Given the description of an element on the screen output the (x, y) to click on. 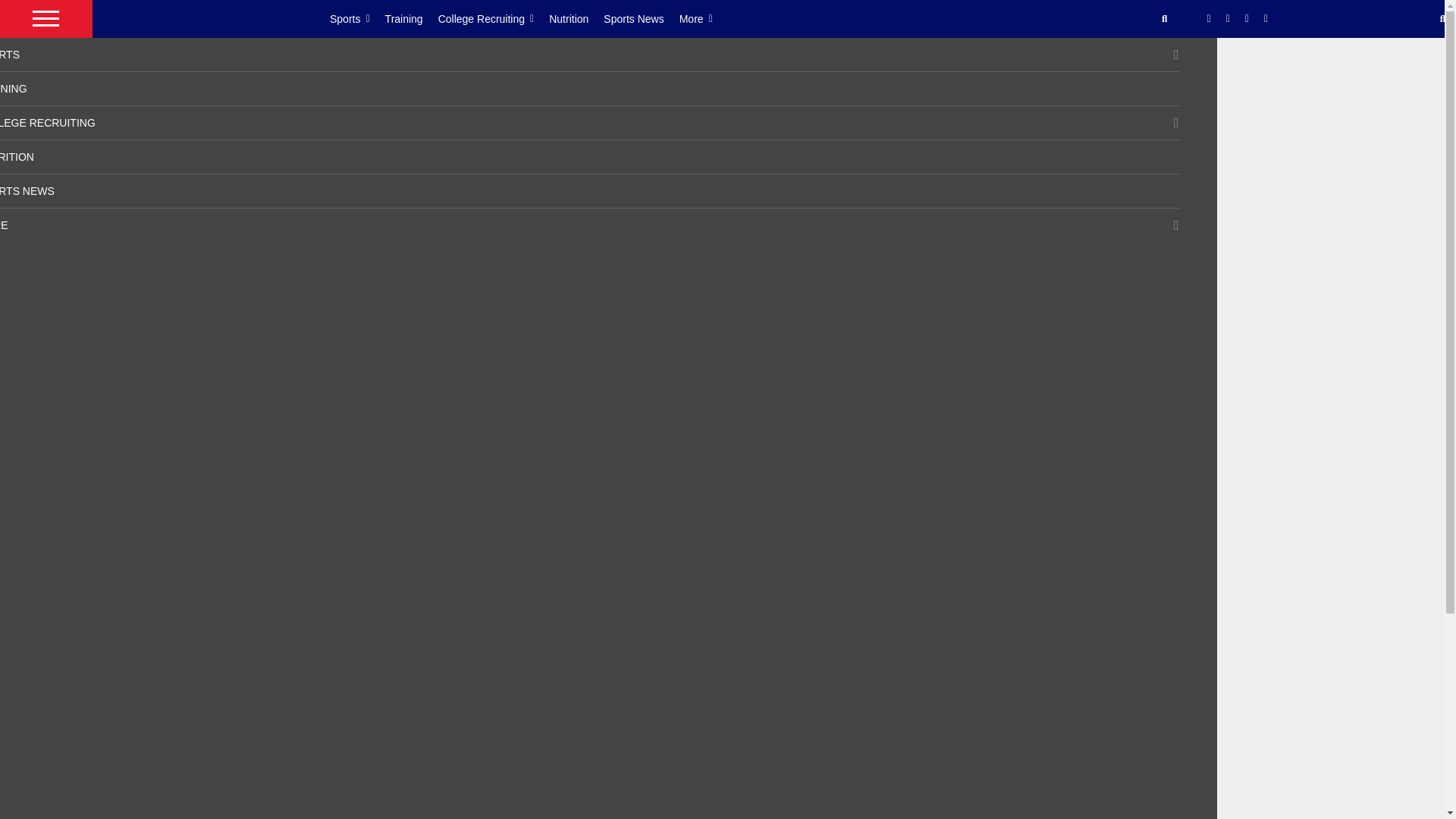
College Recruiting (494, 18)
More (703, 18)
Sports (357, 18)
Training (411, 18)
Nutrition (576, 18)
Sports News (641, 18)
SPORTS (10, 54)
